Given the description of an element on the screen output the (x, y) to click on. 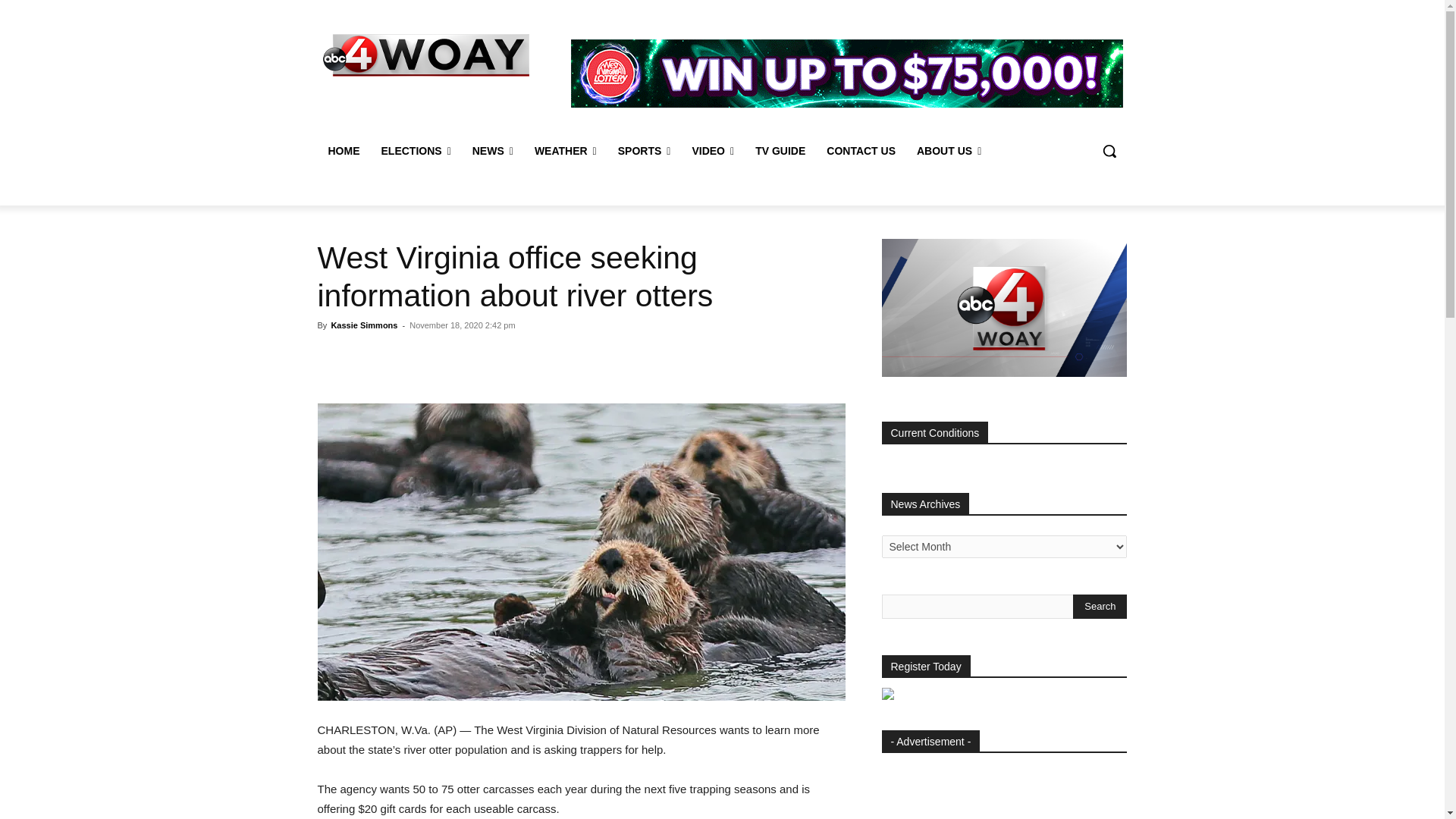
WOAY News (426, 55)
WOAY News (425, 55)
Search (1099, 606)
